Given the description of an element on the screen output the (x, y) to click on. 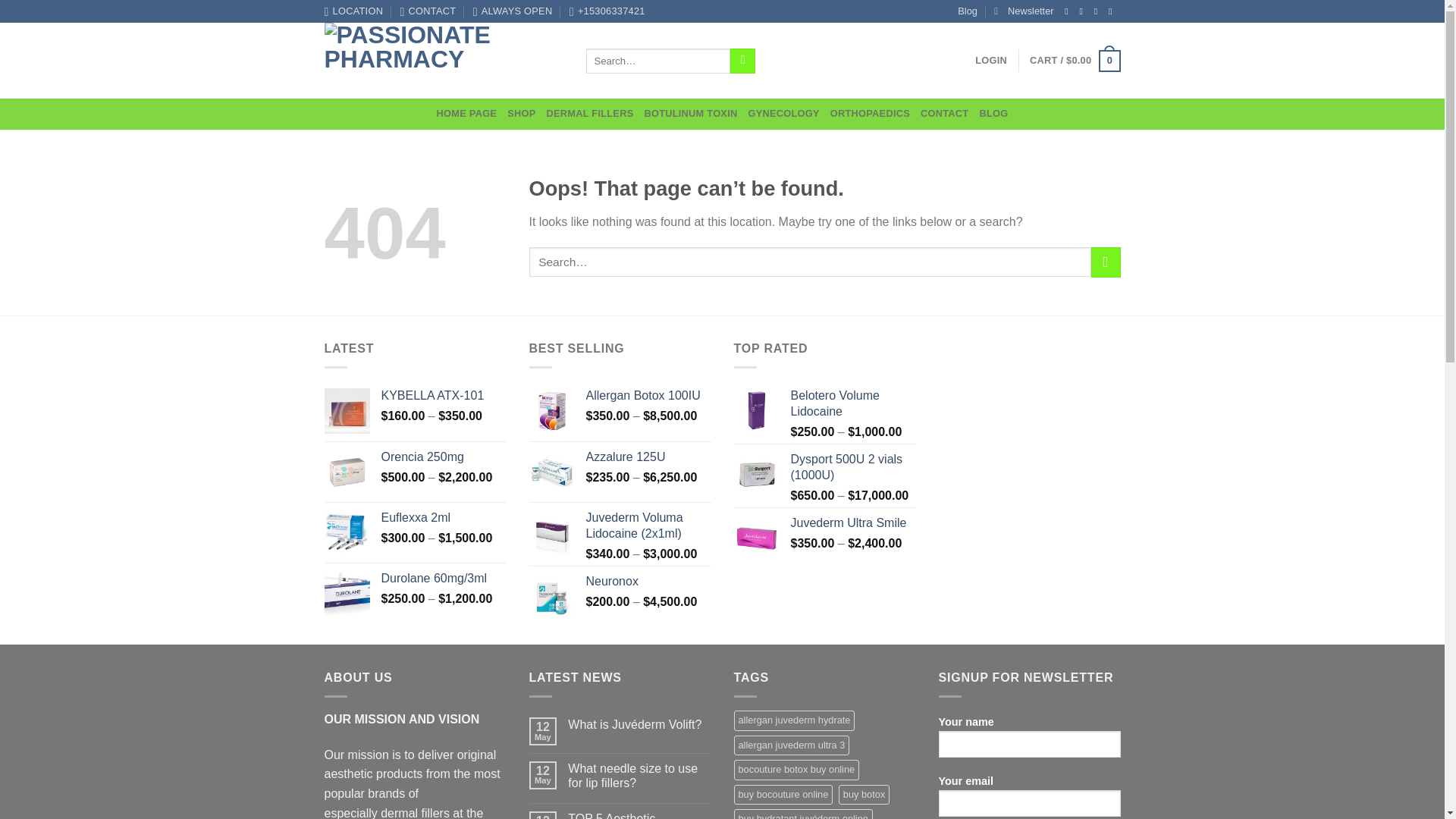
BOTULINUM TOXIN (689, 113)
Neuronox (647, 581)
HOME PAGE (466, 113)
CONTACT (428, 11)
ORTHOPAEDICS (869, 113)
CONTACT (944, 113)
Cart (1074, 61)
LOGIN (991, 60)
Euflexxa 2ml (442, 518)
SHOP (520, 113)
Orencia 250mg (442, 457)
Search (742, 61)
Allergan Botox 100IU (647, 396)
Azzalure 125U (647, 457)
KYBELLA ATX-101 (442, 396)
